Given the description of an element on the screen output the (x, y) to click on. 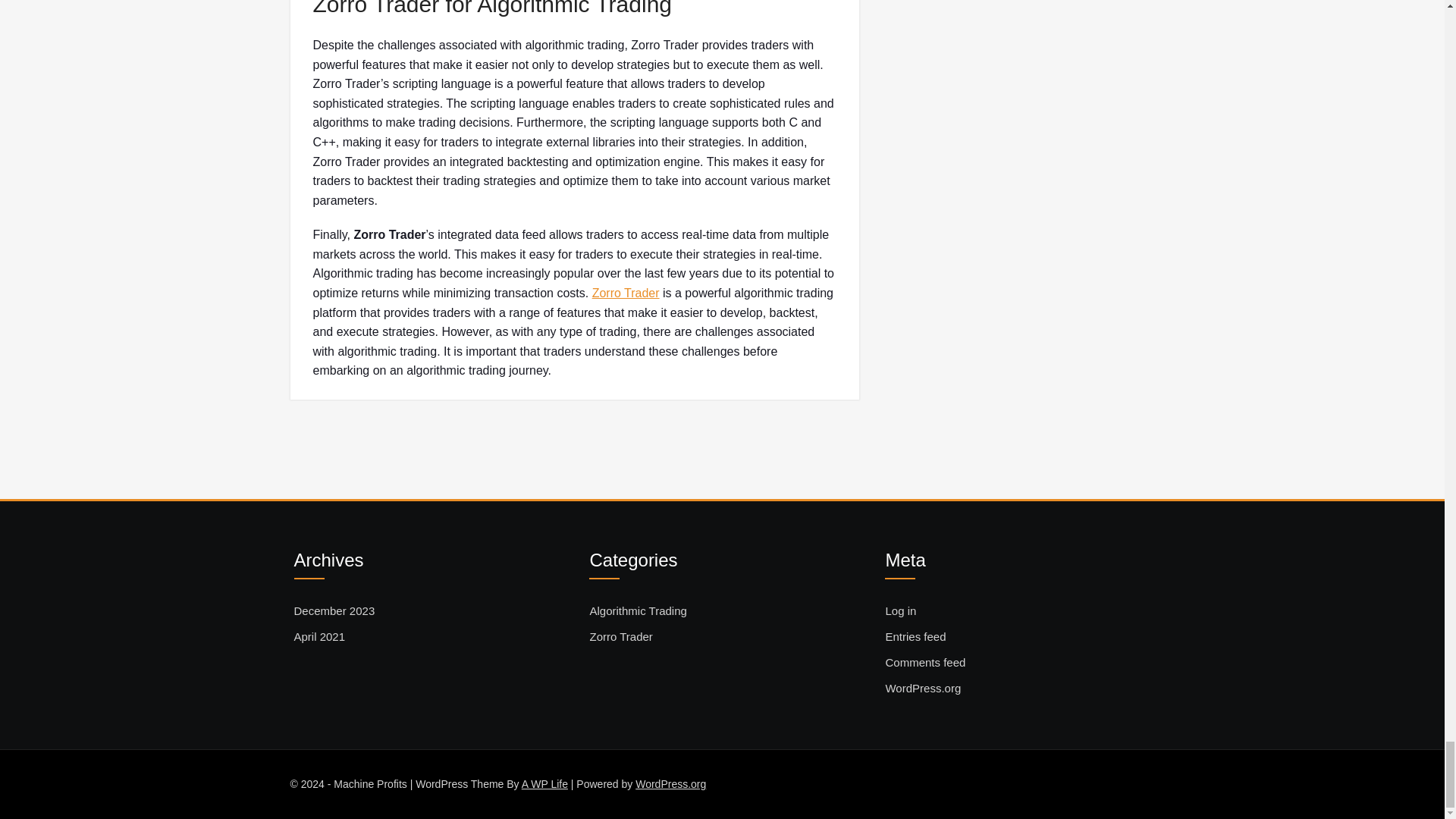
Zorro Trader (625, 292)
April 2021 (320, 637)
December 2023 (334, 610)
Algorithmic Trading (637, 610)
